Given the description of an element on the screen output the (x, y) to click on. 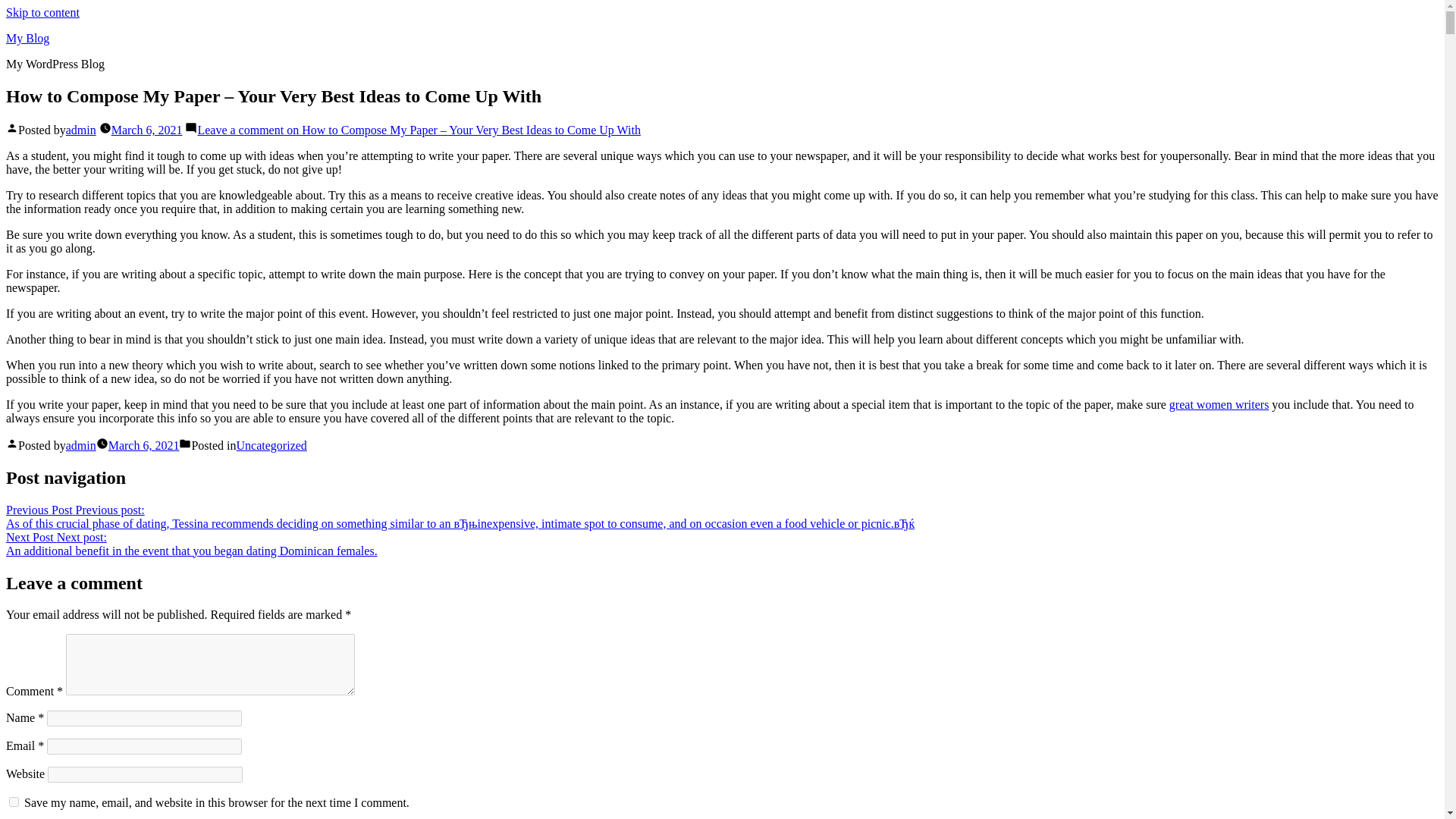
March 6, 2021 (143, 445)
admin (80, 129)
Skip to content (42, 11)
great women writers (1219, 404)
yes (13, 801)
My Blog (27, 38)
Uncategorized (271, 445)
admin (80, 445)
March 6, 2021 (147, 129)
